Given the description of an element on the screen output the (x, y) to click on. 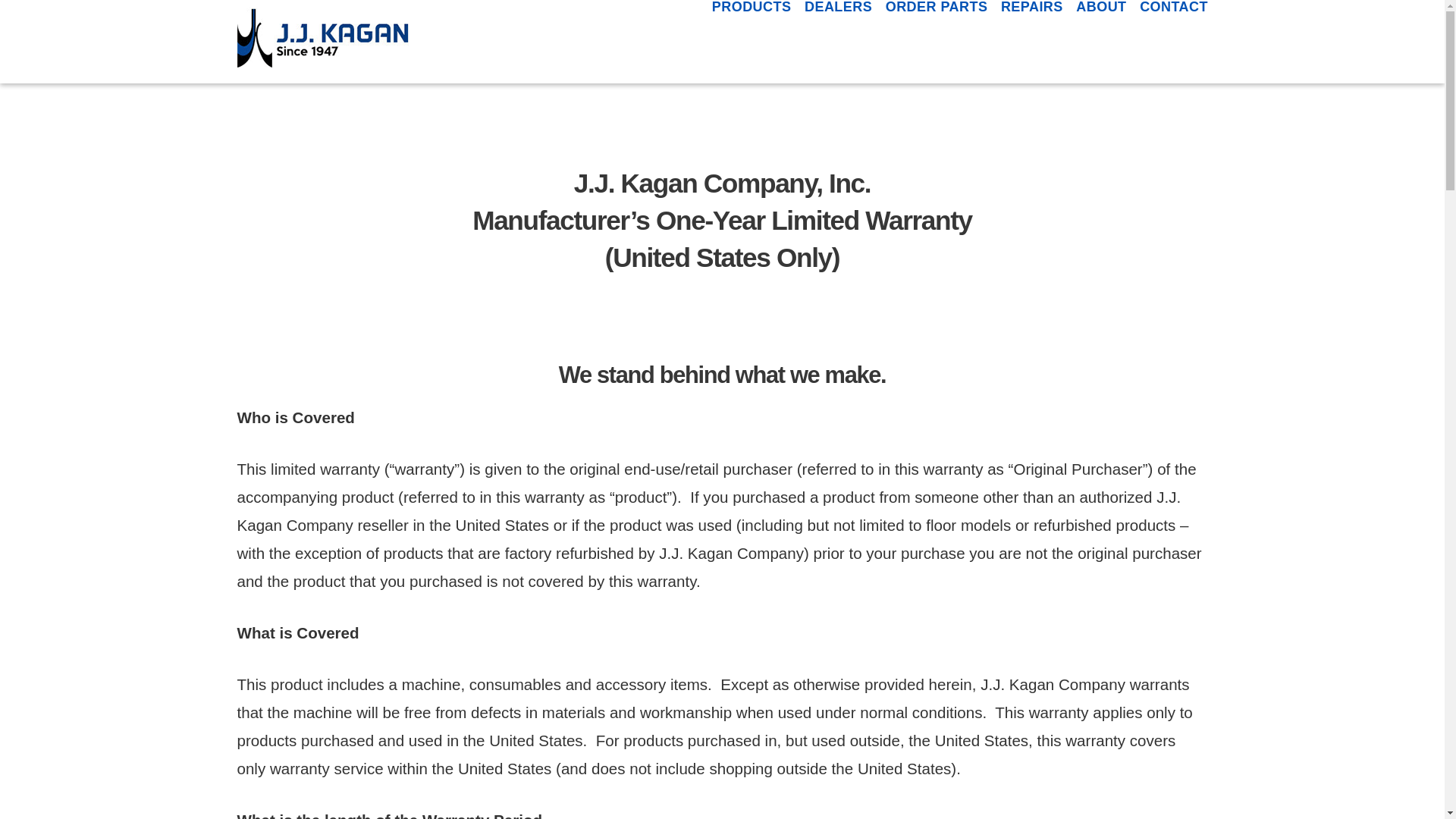
ORDER PARTS (936, 41)
CONTACT (1169, 41)
DEALERS (838, 41)
REPAIRS (1031, 41)
PRODUCTS (750, 41)
